Given the description of an element on the screen output the (x, y) to click on. 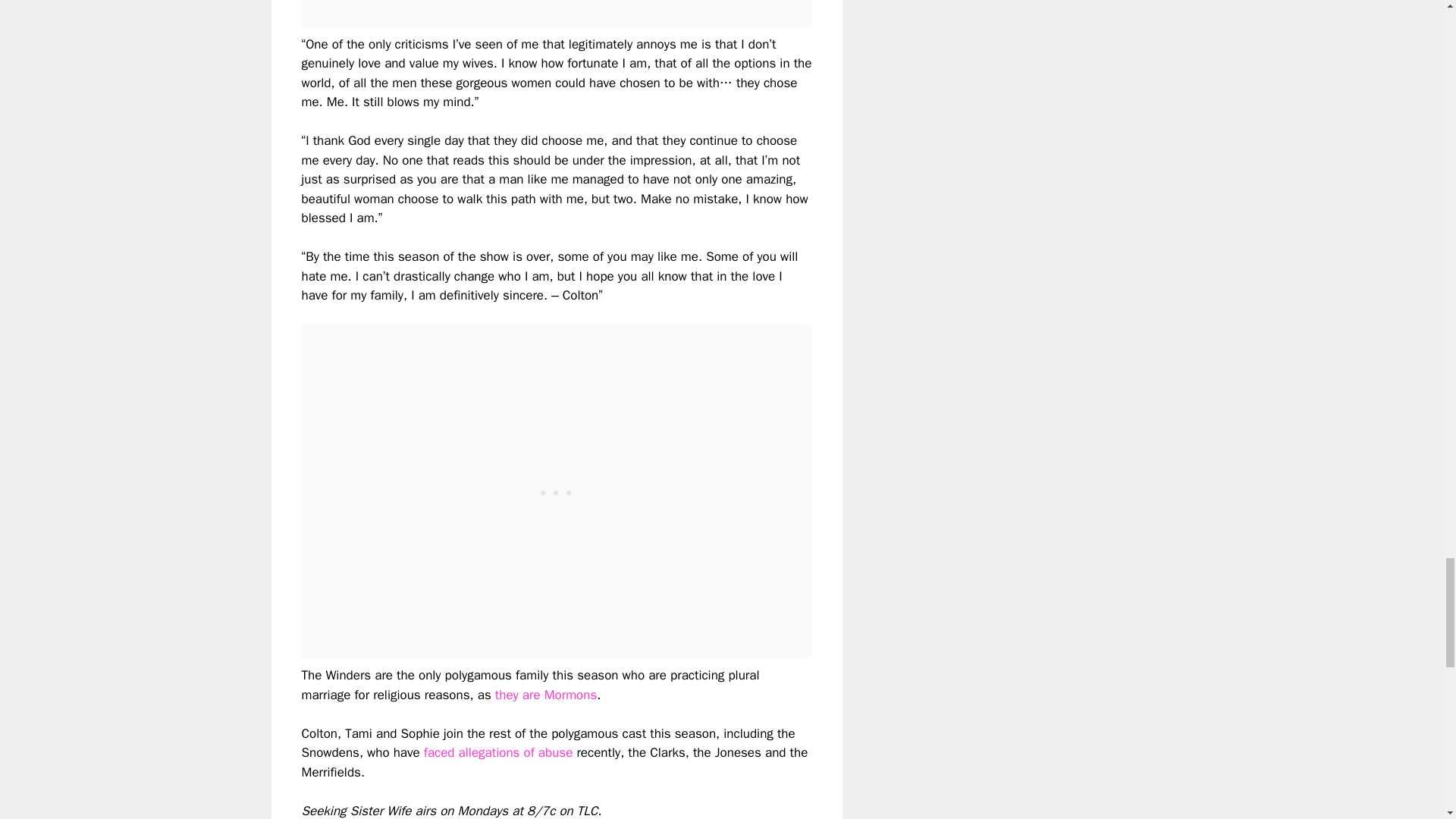
they are Mormons (545, 694)
faced allegations of abuse (498, 752)
